Given the description of an element on the screen output the (x, y) to click on. 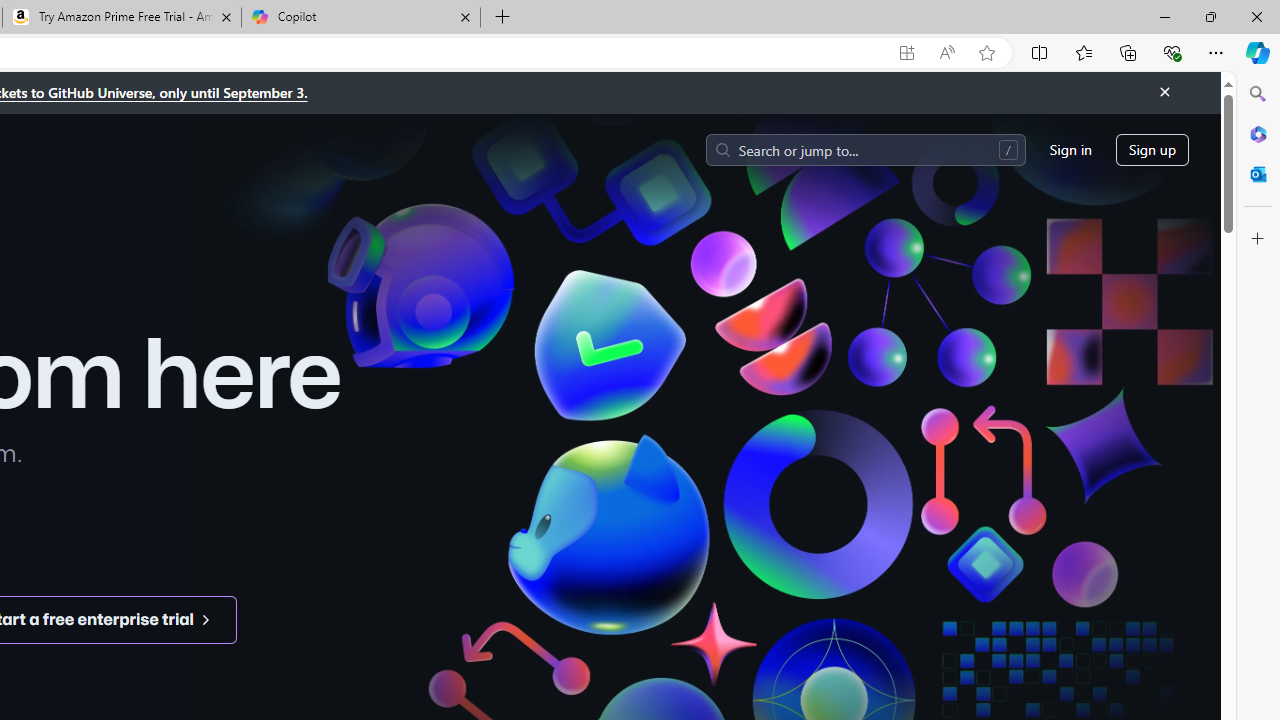
Copilot (360, 17)
Close Outlook pane (1258, 174)
Class: octicon arrow-symbol-mktg (205, 619)
Sign in (1070, 149)
Sign up (1152, 149)
